Given the description of an element on the screen output the (x, y) to click on. 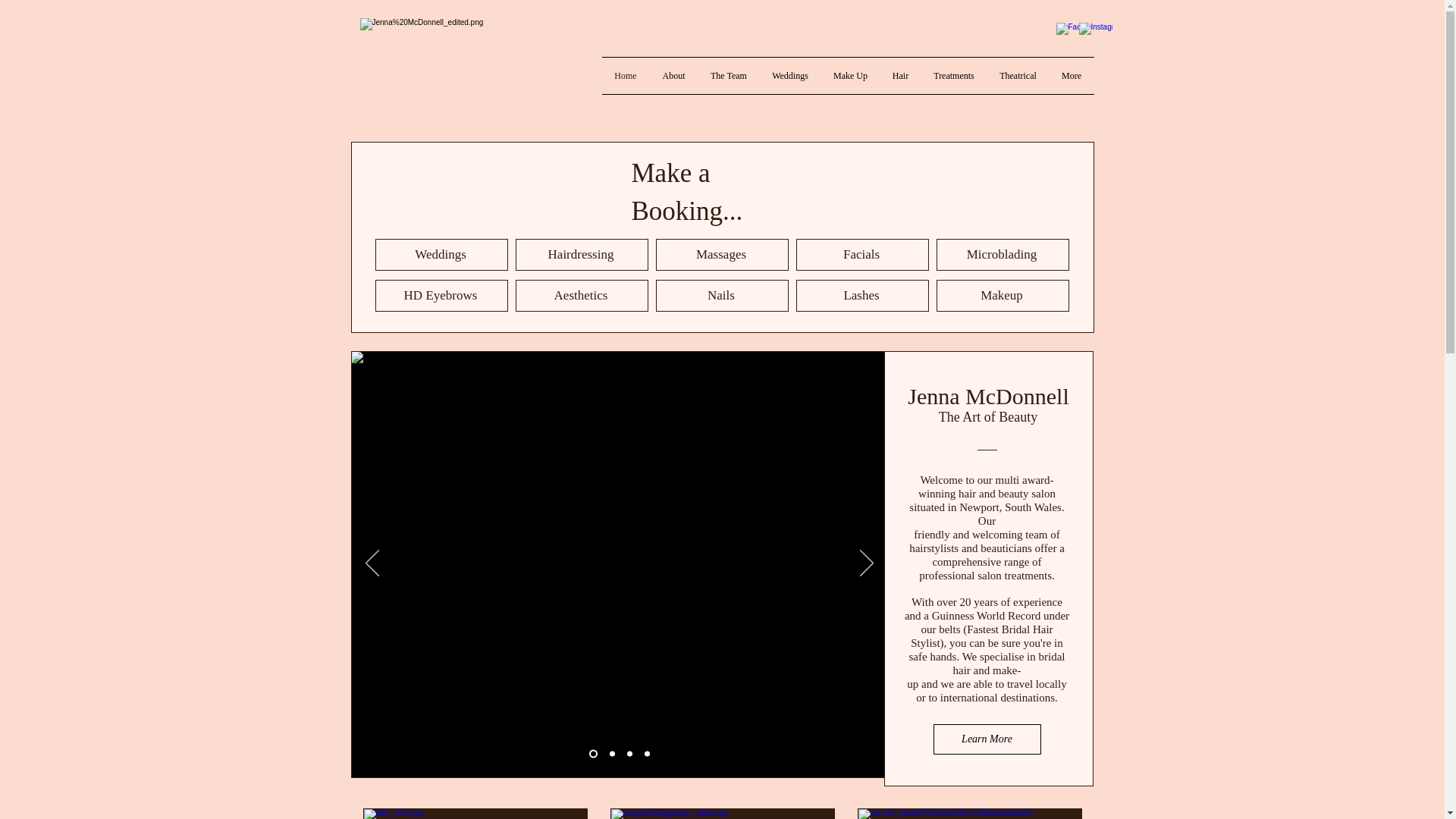
Facials (862, 255)
Lashes (862, 296)
Makeup (1002, 296)
Treatments (953, 75)
Microblading (1002, 255)
The Team (727, 75)
Aesthetics (581, 296)
Hairdressing (581, 255)
About (673, 75)
Learn More (987, 738)
